Given the description of an element on the screen output the (x, y) to click on. 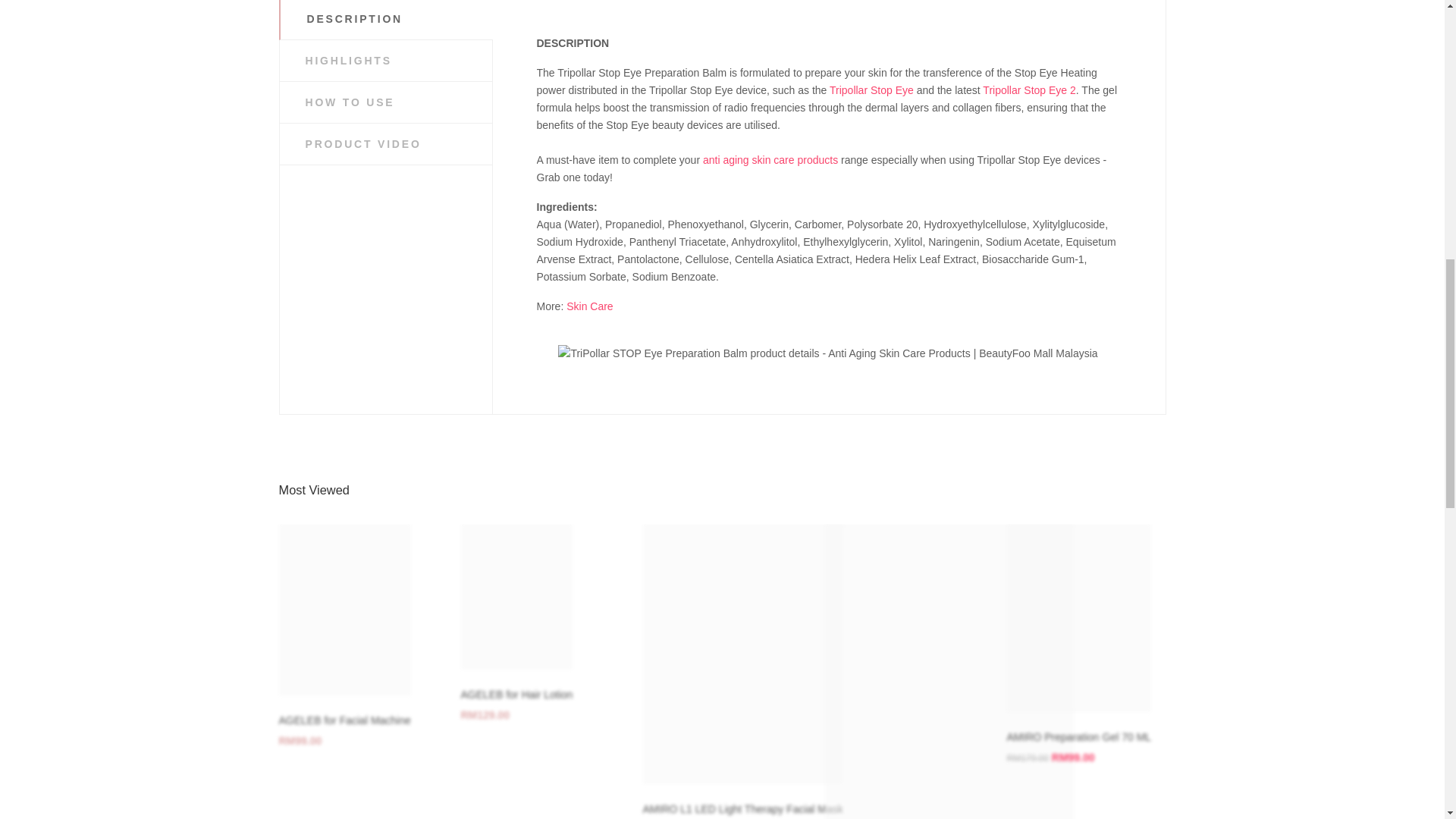
DESCRIPTION (387, 19)
HOW TO USE (385, 101)
Skin Care (589, 306)
AGELEB for Facial Machine (344, 720)
PRODUCT VIDEO (385, 143)
Tripollar Stop Eye (871, 90)
HIGHLIGHTS (385, 60)
anti aging skin care products (770, 159)
Tripollar Stop Eye 2 (1028, 90)
